Given the description of an element on the screen output the (x, y) to click on. 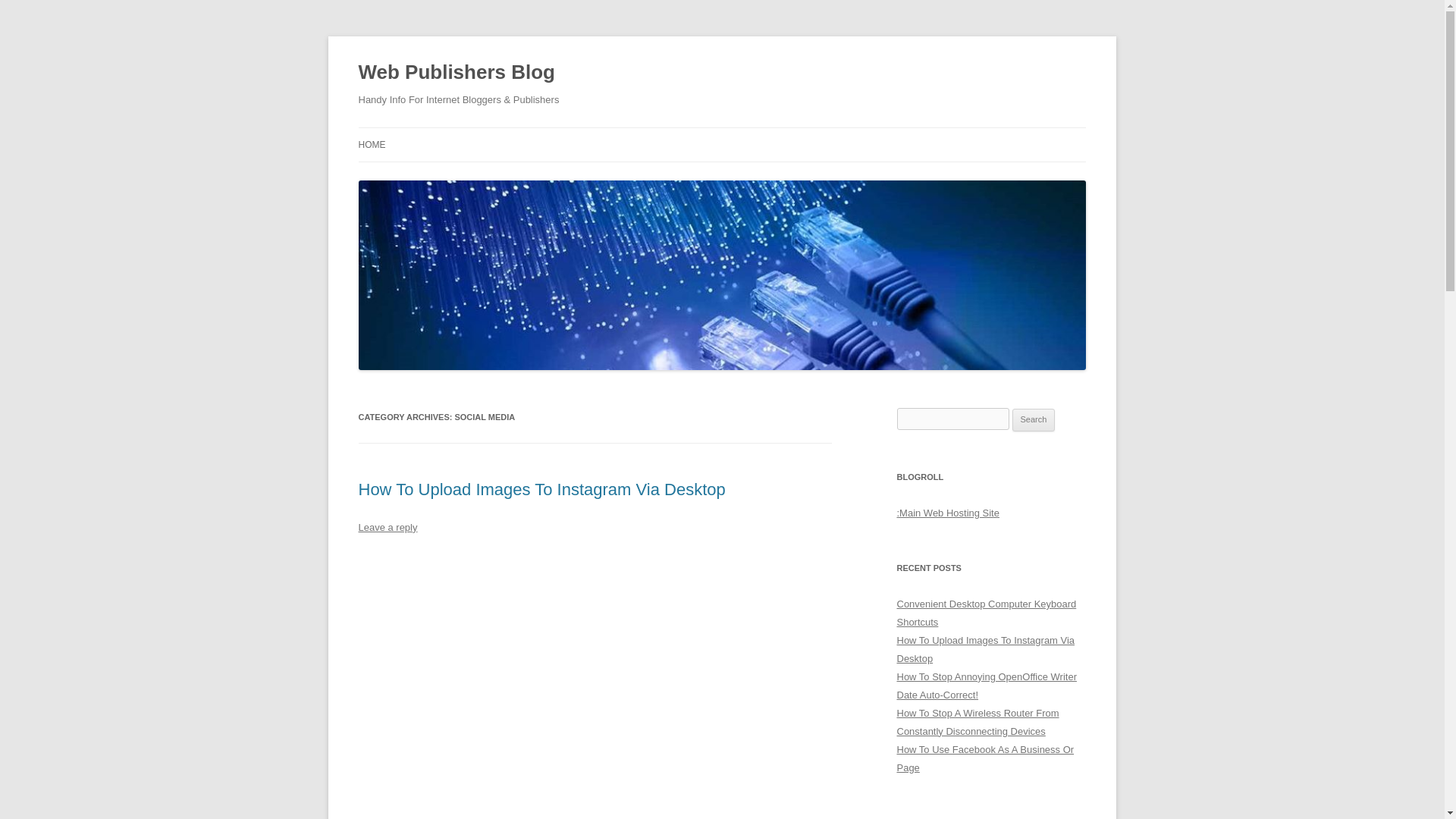
:Main Web Hosting Site (947, 512)
Search (1033, 419)
How To Upload Images To Instagram Via Desktop (985, 649)
Convenient Desktop Computer Keyboard Shortcuts (985, 613)
Search (1033, 419)
Internet Domain Hosting Services (947, 512)
Leave a reply (387, 527)
How To Upload Images To Instagram Via Desktop (541, 488)
Web Publishers Blog (456, 72)
